Given the description of an element on the screen output the (x, y) to click on. 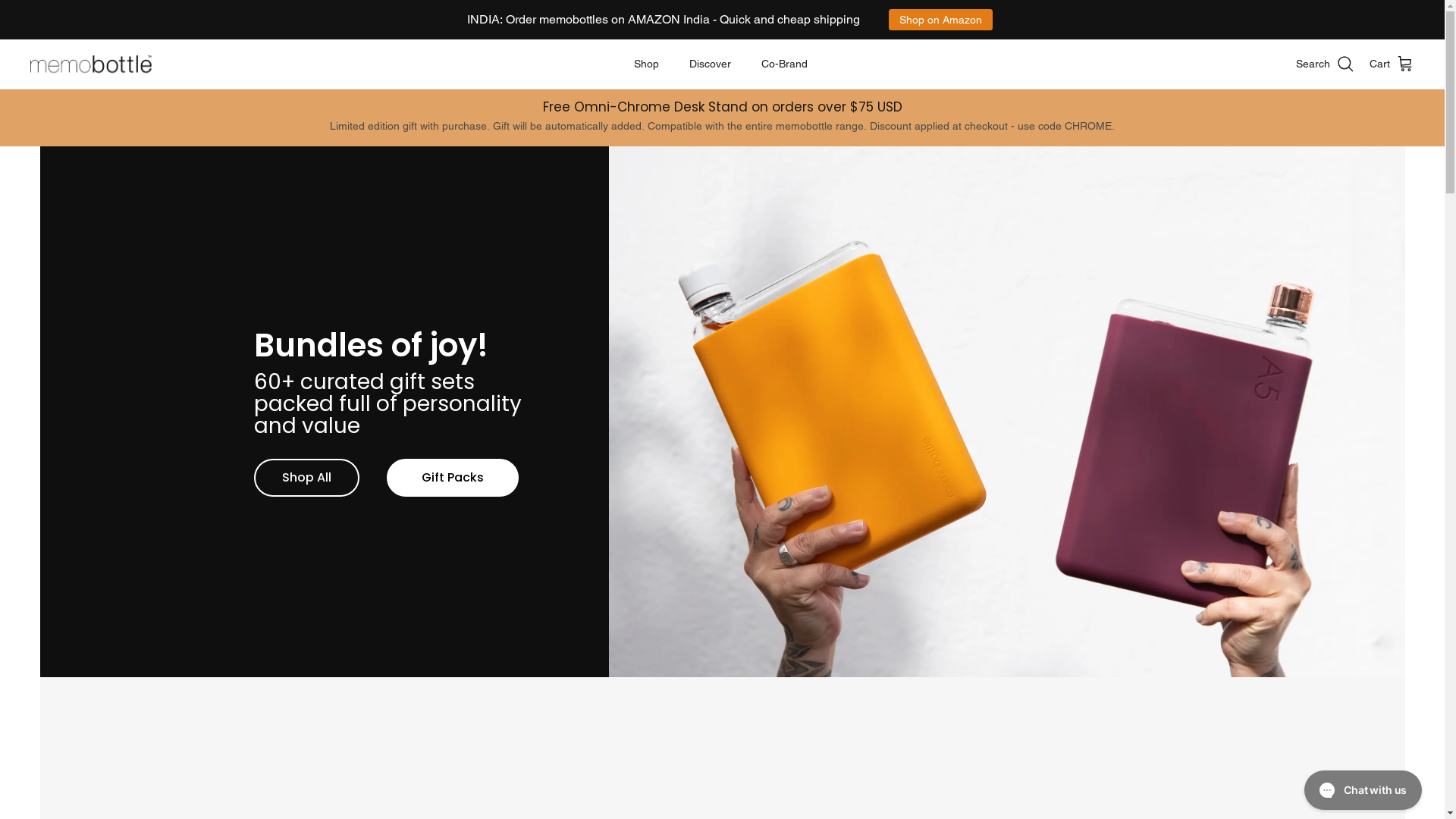
Co-Brand Element type: text (784, 63)
Search Element type: text (1324, 63)
Shop on Amazon Element type: text (940, 19)
Gorgias live chat messenger Element type: hover (1362, 790)
Cart Element type: text (1391, 63)
Shop Element type: text (646, 63)
Discover Element type: text (708, 63)
Shop All Element type: text (306, 477)
Gift Packs Element type: text (452, 477)
